Given the description of an element on the screen output the (x, y) to click on. 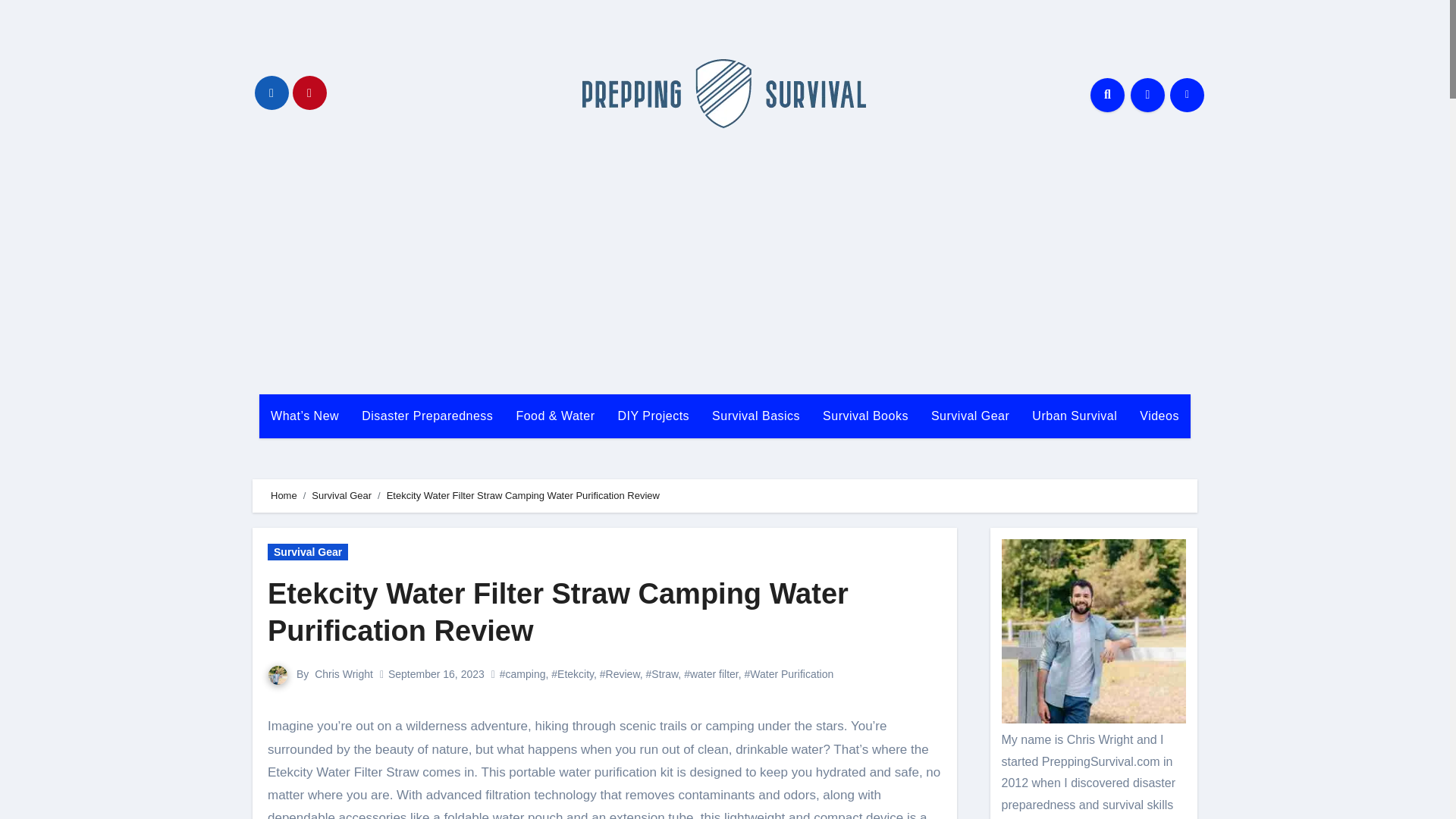
Disaster Preparedness (426, 415)
Survival Books (865, 415)
Survival Gear (970, 415)
September 16, 2023 (436, 674)
Survival Basics (755, 415)
Videos (1159, 415)
Home (283, 495)
Survival Basics (755, 415)
Videos (1159, 415)
